Given the description of an element on the screen output the (x, y) to click on. 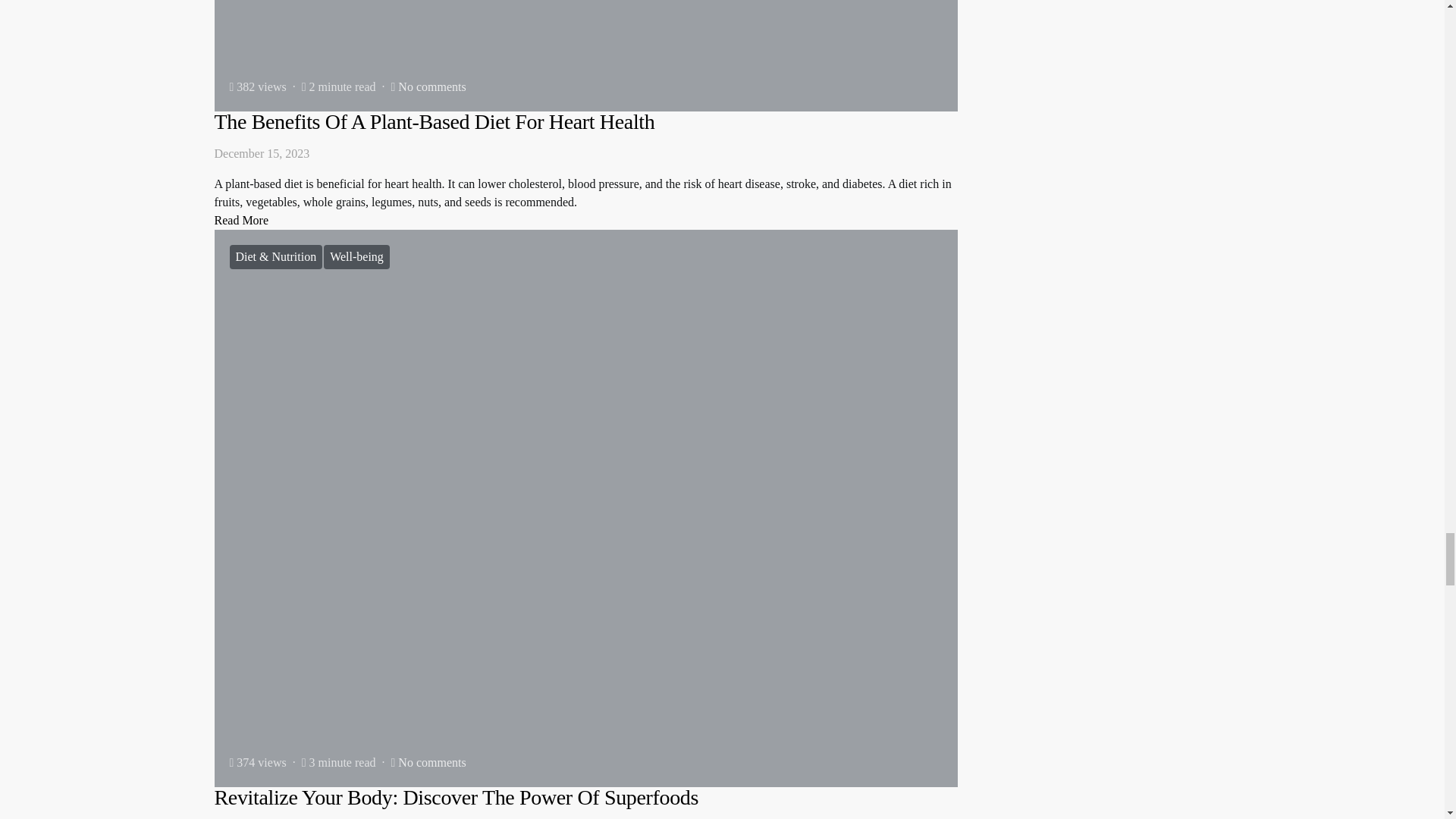
The Benefits of a Plant-Based Diet for Heart Health 18 (585, 55)
